Given the description of an element on the screen output the (x, y) to click on. 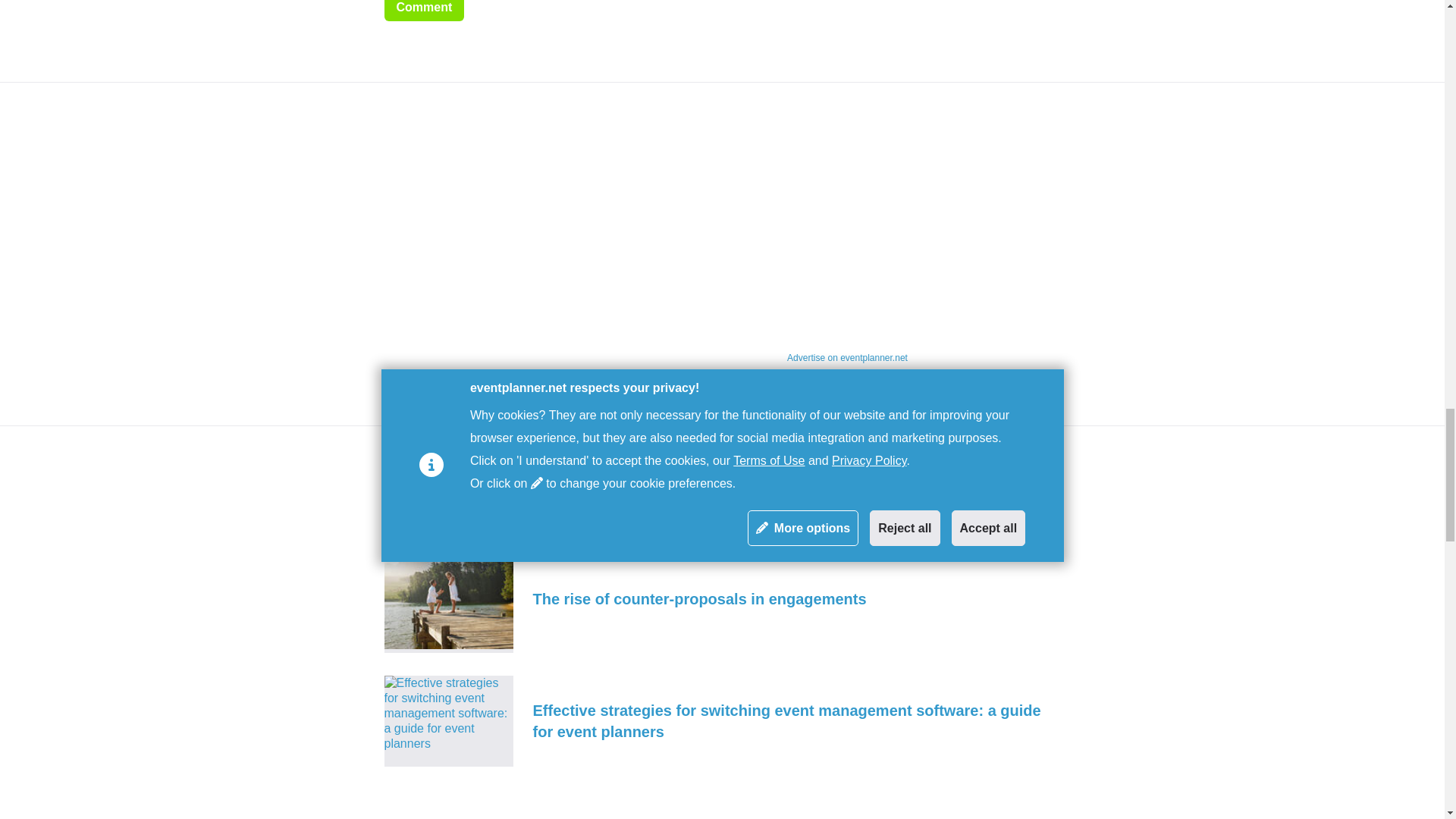
Comment (424, 10)
The rise of counter-proposals in engagements (721, 599)
